Given the description of an element on the screen output the (x, y) to click on. 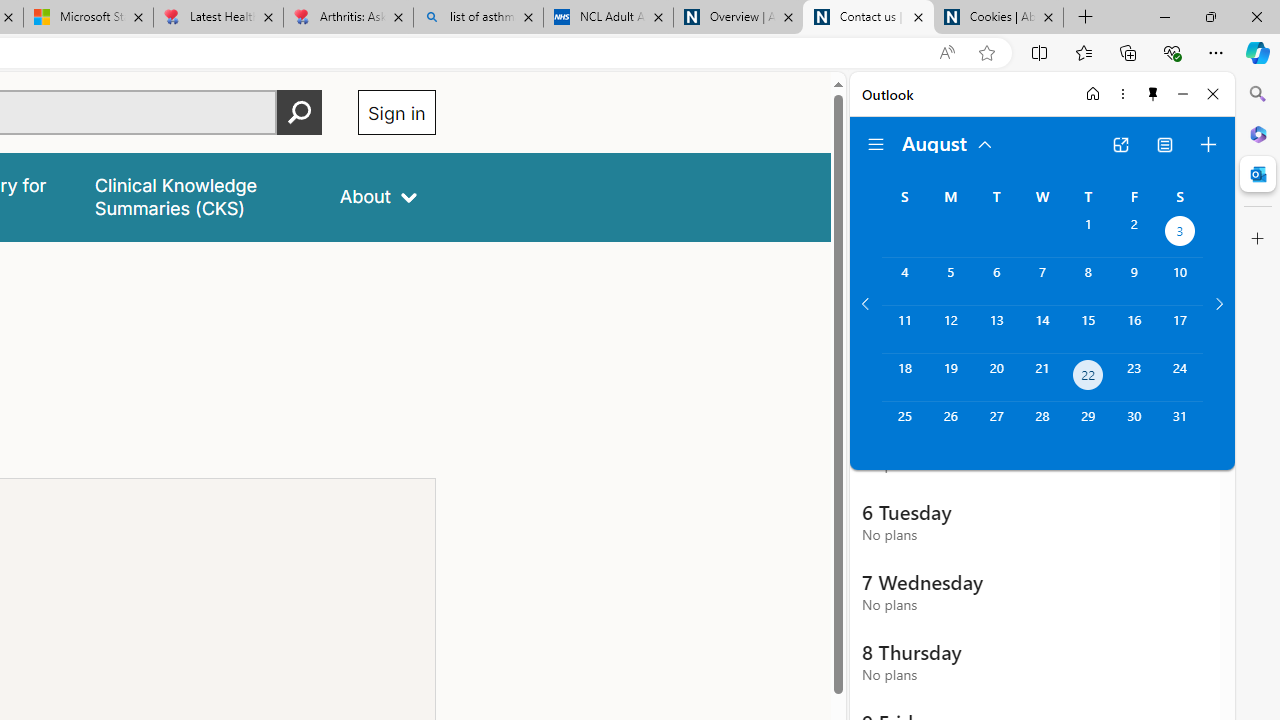
Saturday, August 31, 2024.  (1180, 425)
Tuesday, August 20, 2024.  (996, 377)
Tuesday, August 6, 2024.  (996, 281)
Perform search (299, 112)
Friday, August 23, 2024.  (1134, 377)
Thursday, August 1, 2024.  (1088, 233)
Saturday, August 17, 2024.  (1180, 329)
Tuesday, August 13, 2024.  (996, 329)
Sunday, August 4, 2024.  (904, 281)
Thursday, August 8, 2024.  (1088, 281)
